Given the description of an element on the screen output the (x, y) to click on. 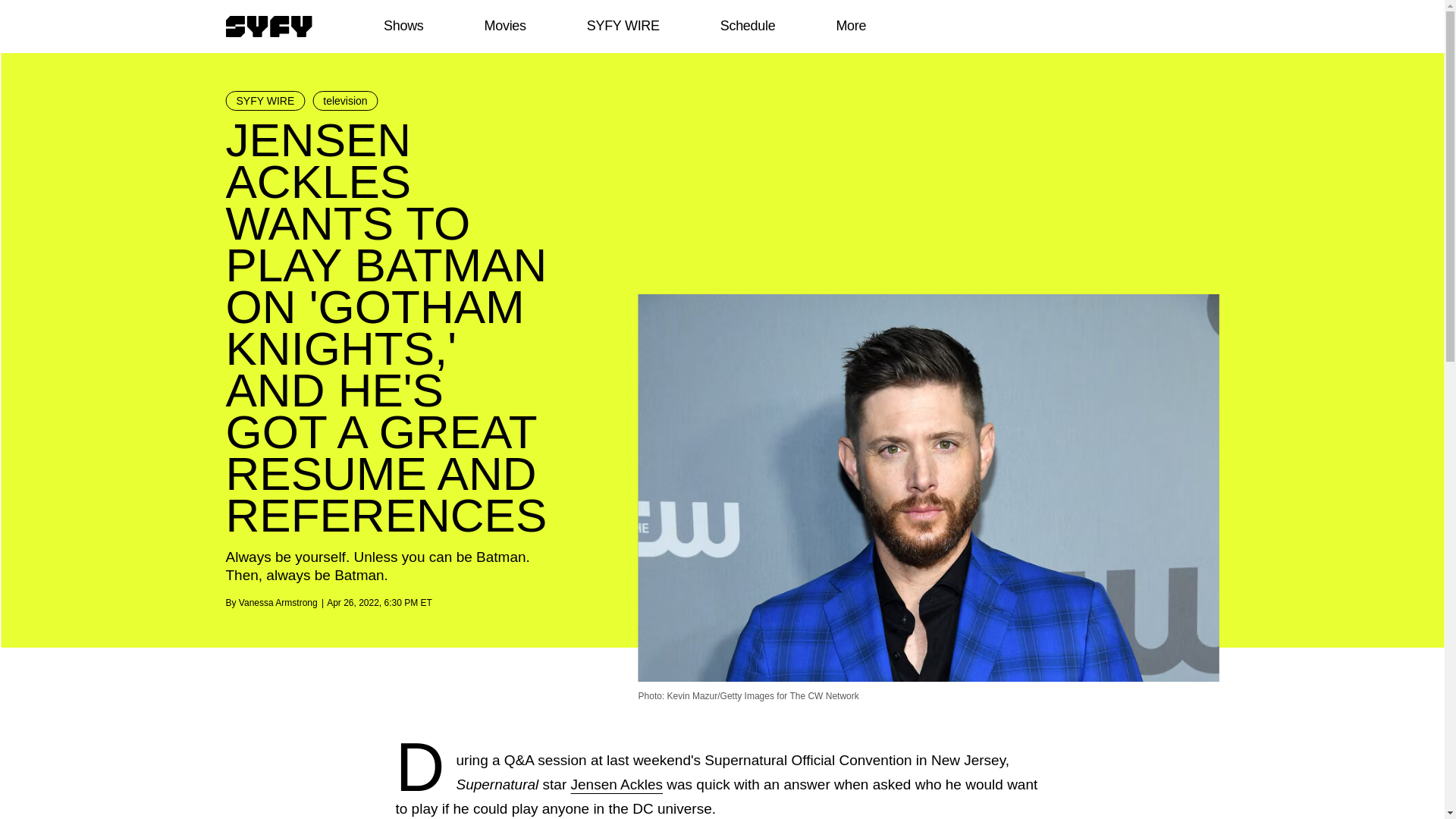
Vanessa Armstrong (277, 602)
Movies (504, 26)
SYFY WIRE (622, 26)
Schedule (746, 26)
SYFY WIRE (265, 100)
More (850, 26)
Jensen Ackles (616, 784)
Shows (403, 26)
television (345, 100)
